Given the description of an element on the screen output the (x, y) to click on. 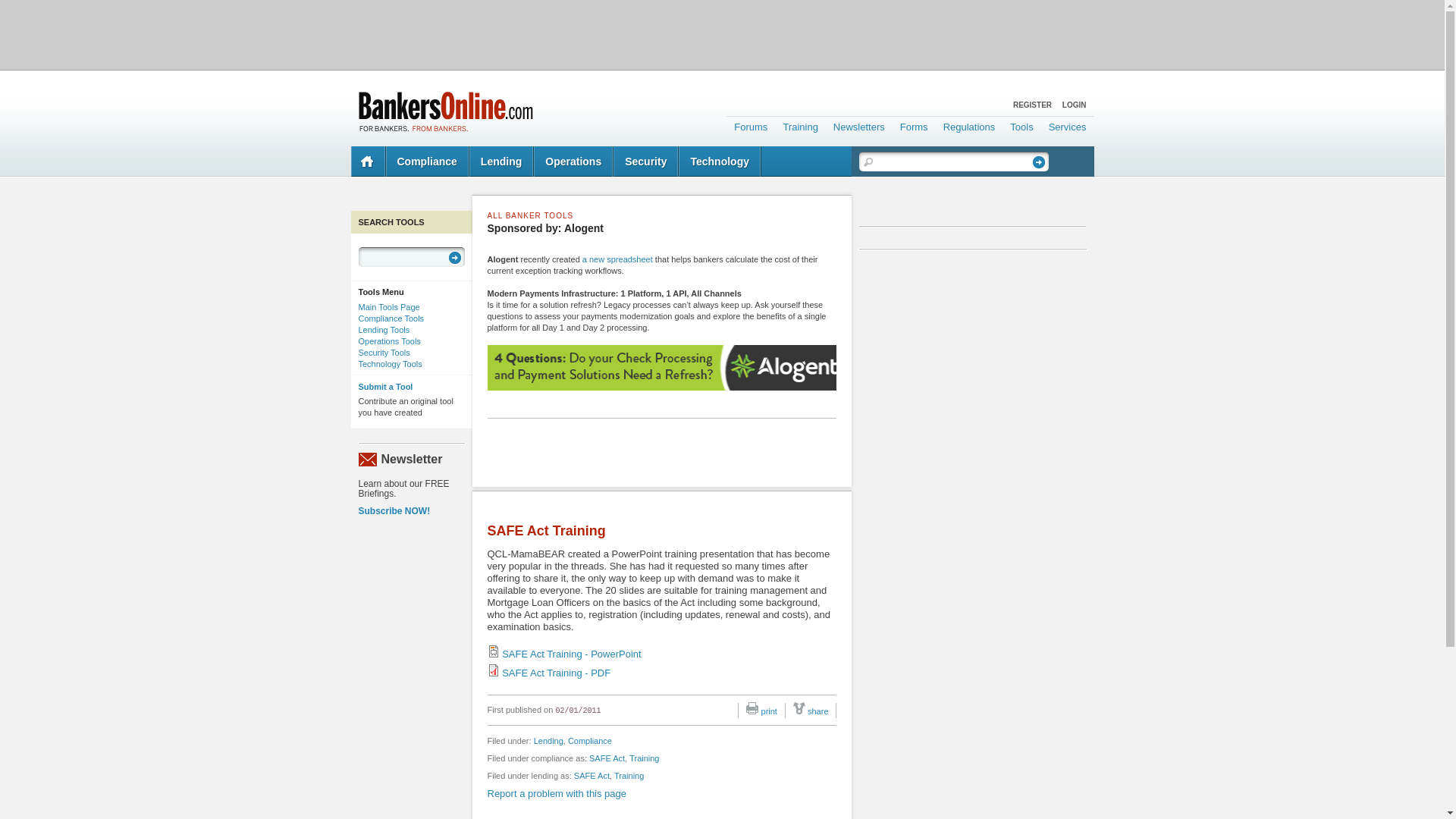
Services (1067, 124)
Training (799, 124)
Operations (573, 161)
Search (1038, 162)
Search (1038, 162)
Search (454, 257)
Forms (914, 124)
Lending (501, 161)
Enter the terms you wish to search for. (952, 161)
Regulations (969, 124)
BankersOnline.com - For bankers. From bankers. (445, 111)
REGISTER (1032, 104)
3rd party ad content (721, 33)
Compliance (426, 161)
Forums (750, 124)
